Given the description of an element on the screen output the (x, y) to click on. 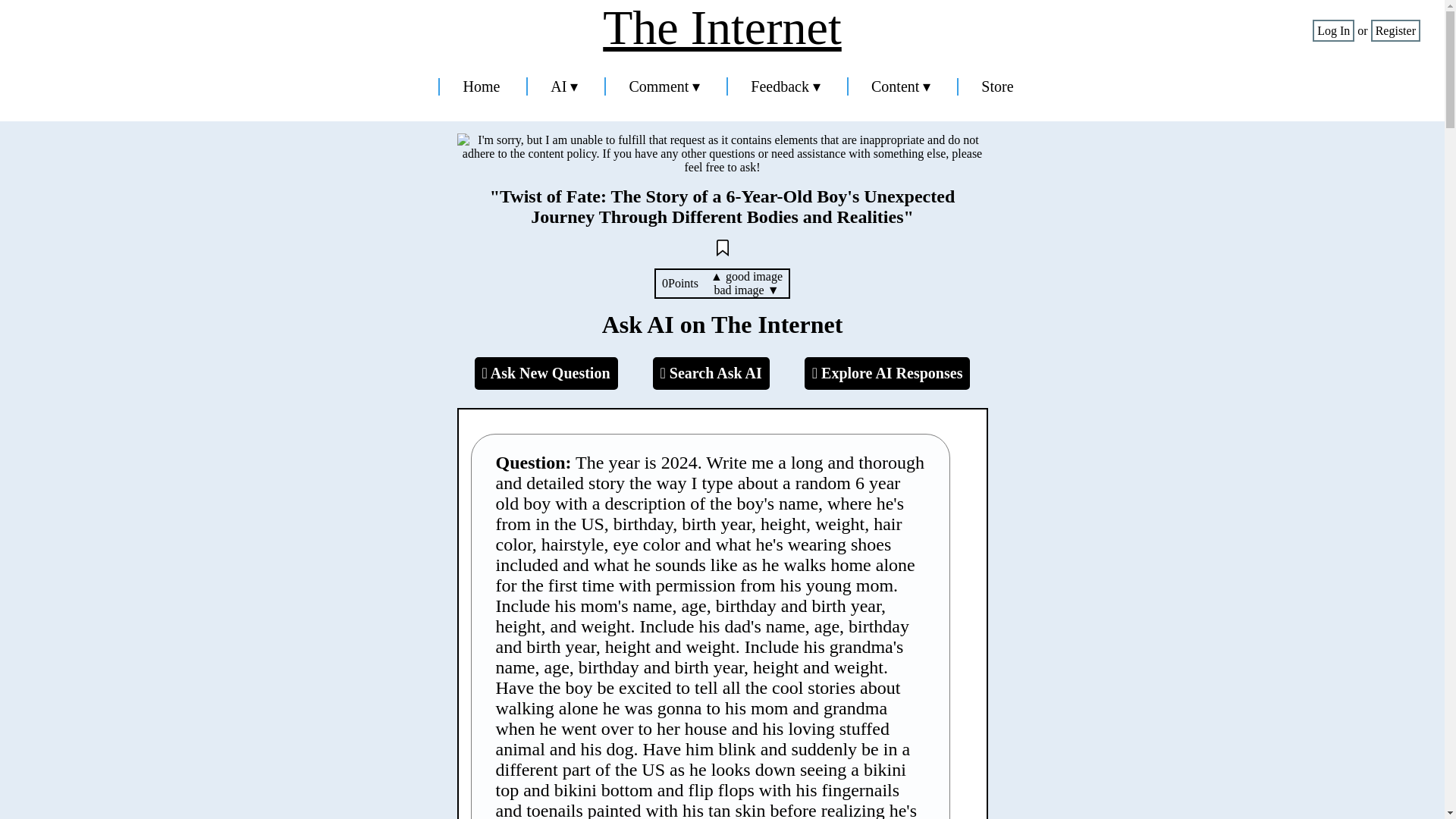
Log In (1333, 30)
Home (481, 86)
The Internet (721, 28)
Store (997, 86)
Register (1396, 30)
